Given the description of an element on the screen output the (x, y) to click on. 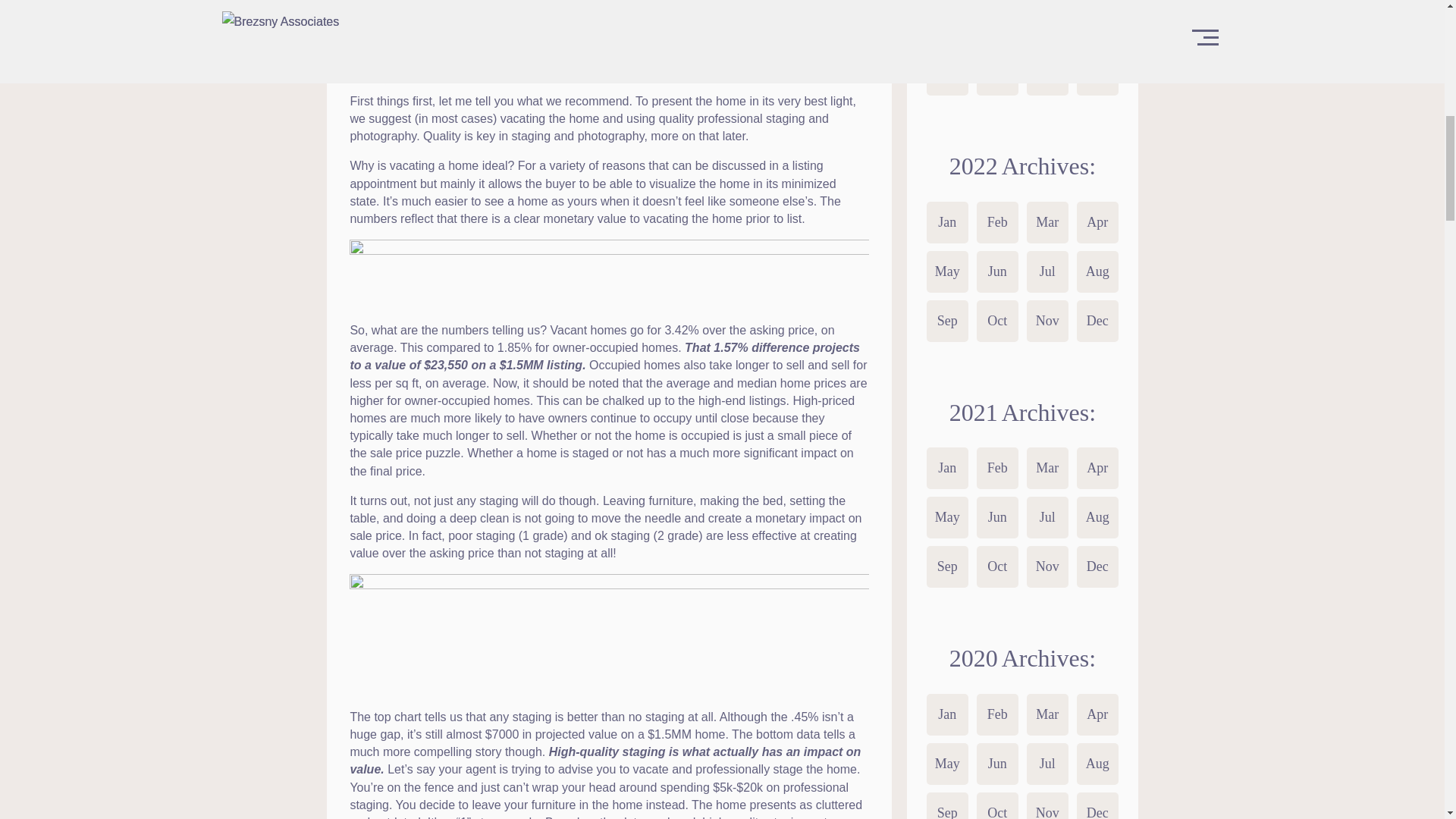
May 2001 (947, 24)
July 2001 (1047, 24)
June 2001 (996, 24)
